Given the description of an element on the screen output the (x, y) to click on. 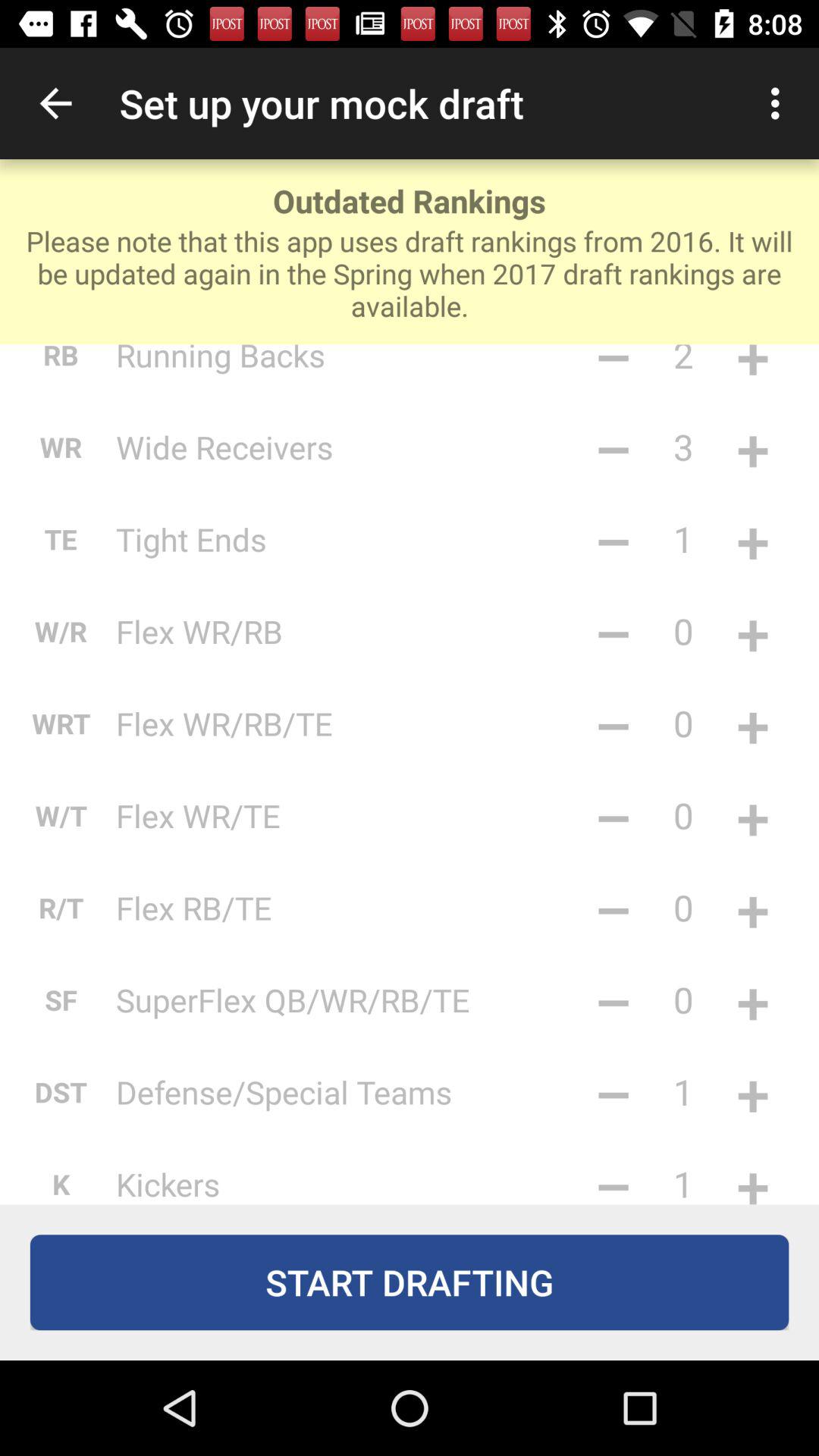
click the start drafting (409, 1282)
